Given the description of an element on the screen output the (x, y) to click on. 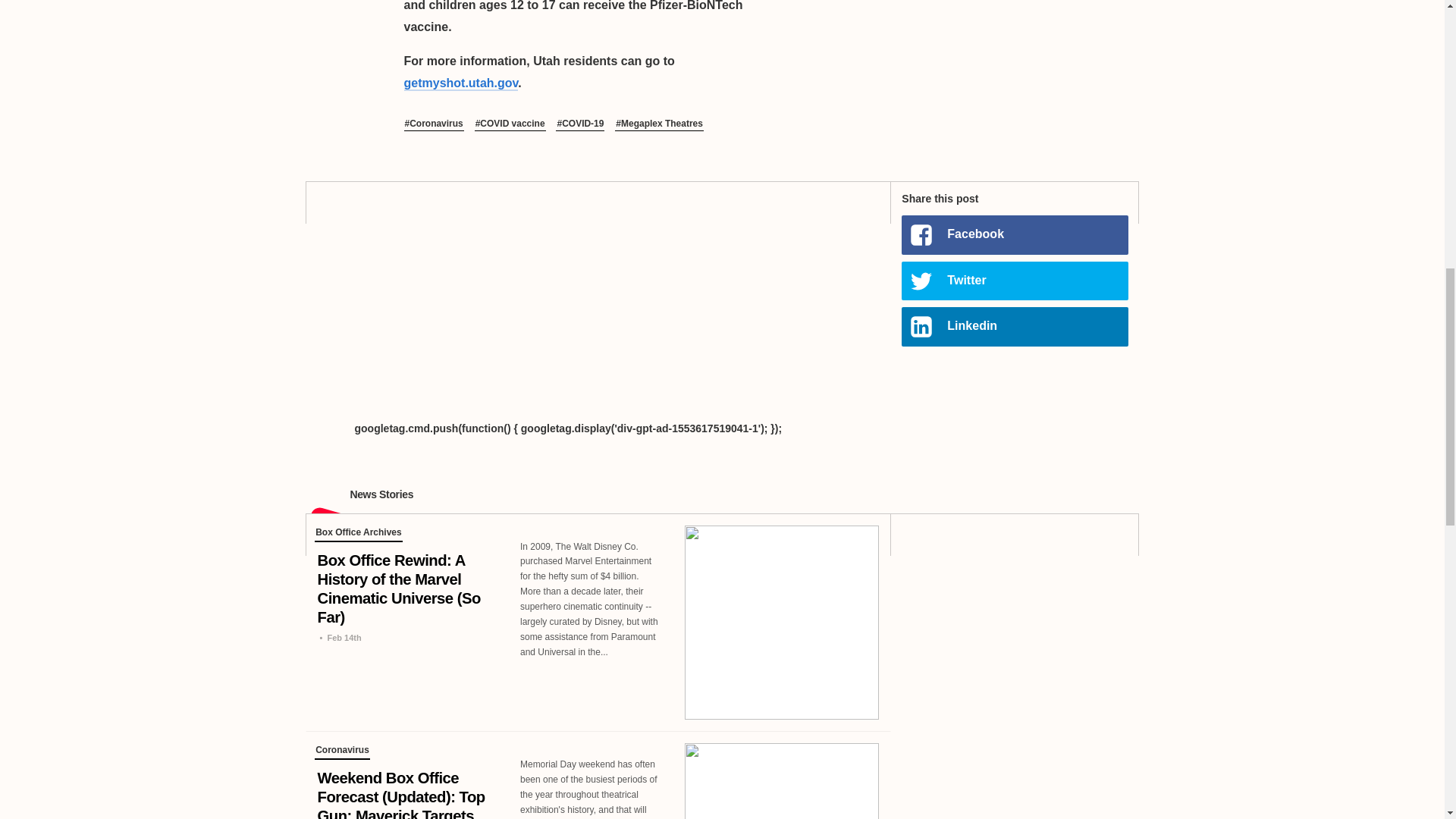
Facebook (1013, 234)
COVID-19 (580, 124)
Megaplex Theatres (658, 124)
Coronavirus (433, 124)
Linkedin (1013, 326)
Twitter (1013, 280)
getmyshot.utah.gov (460, 83)
Coronavirus (341, 752)
COVID vaccine (510, 124)
Box Office Archives (357, 534)
